Given the description of an element on the screen output the (x, y) to click on. 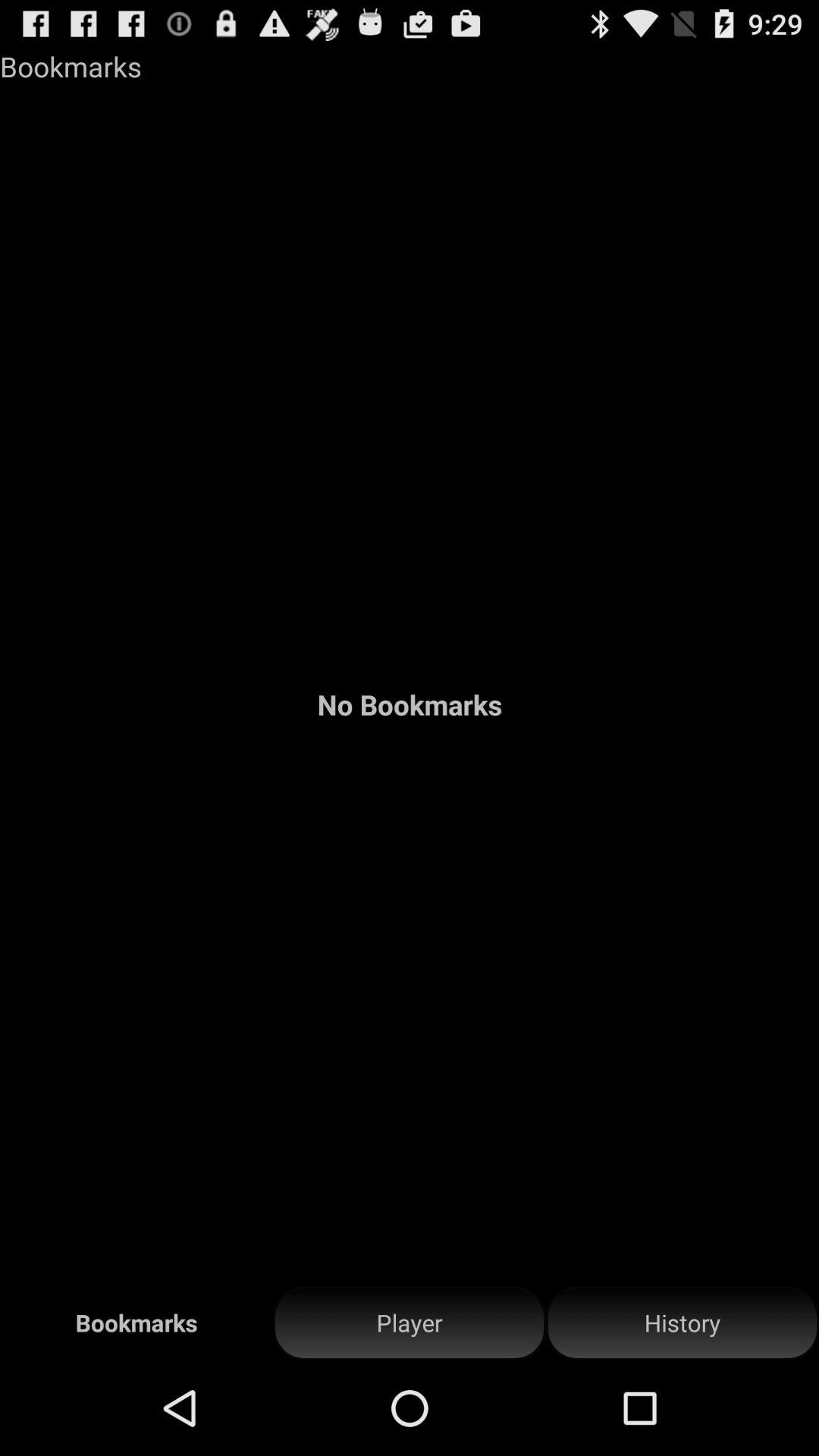
select icon below the no bookmarks (409, 1323)
